Given the description of an element on the screen output the (x, y) to click on. 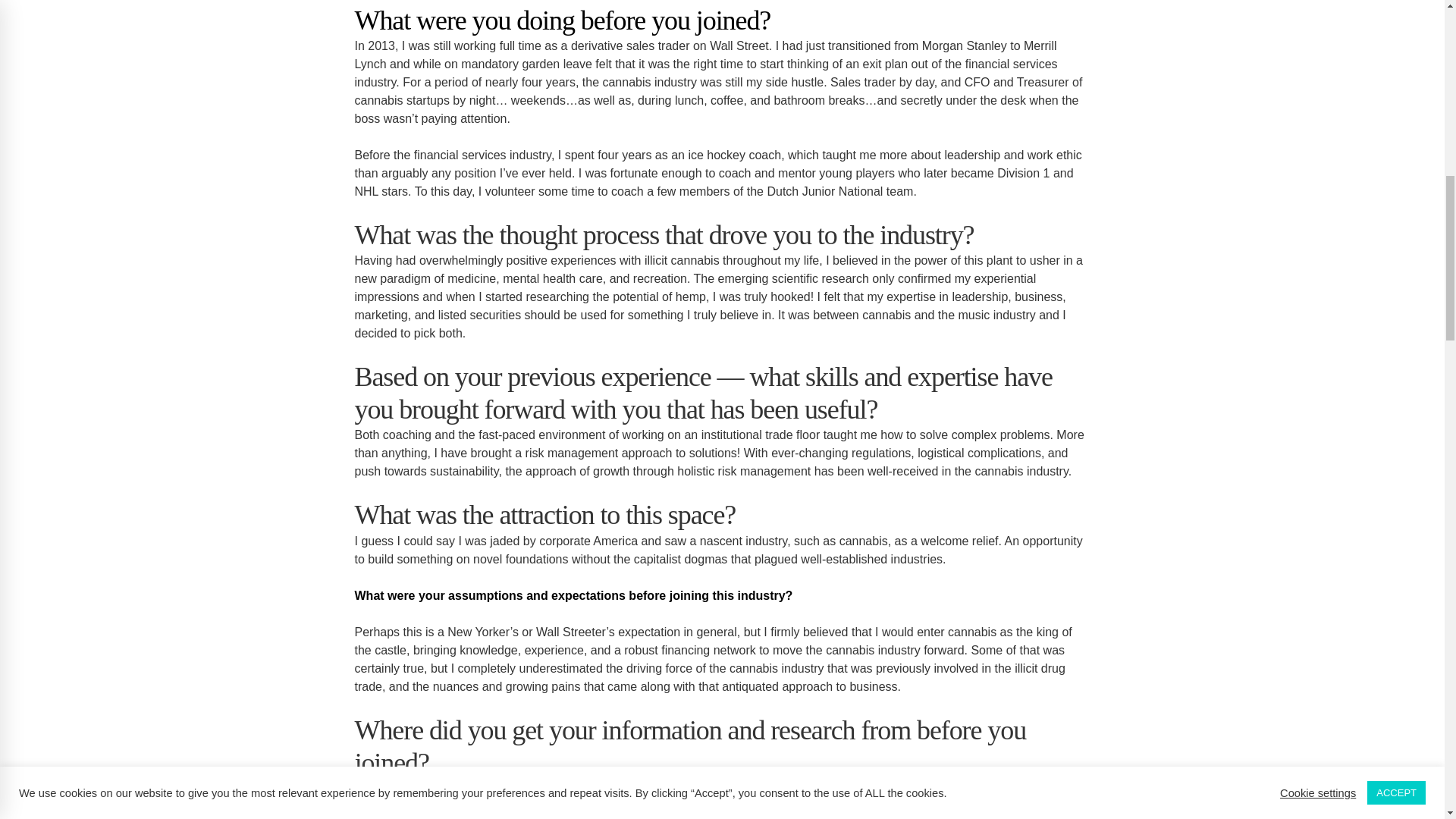
Oleg Maryasis (959, 806)
